Given the description of an element on the screen output the (x, y) to click on. 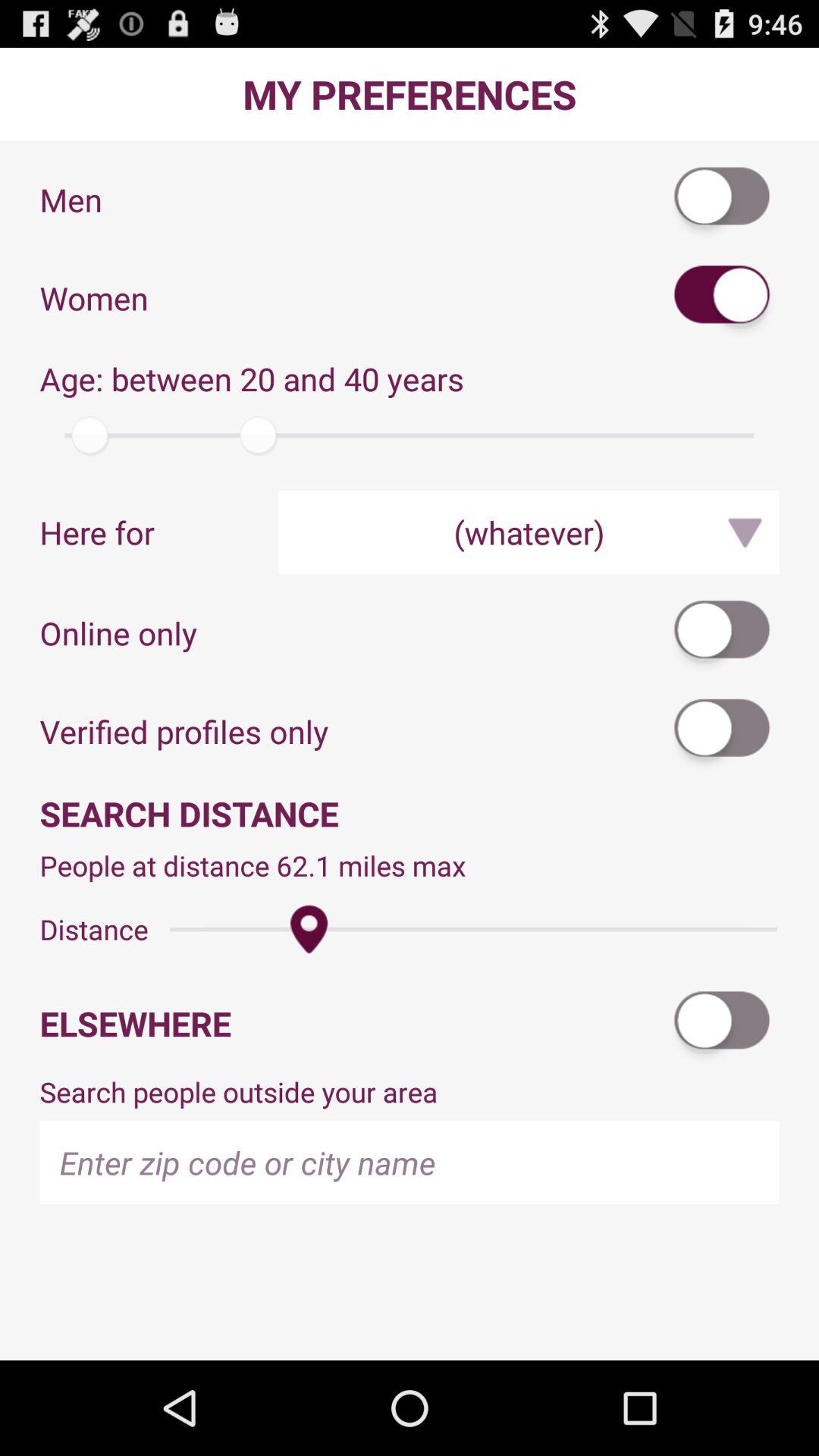
choose the search distance app (409, 813)
